Given the description of an element on the screen output the (x, y) to click on. 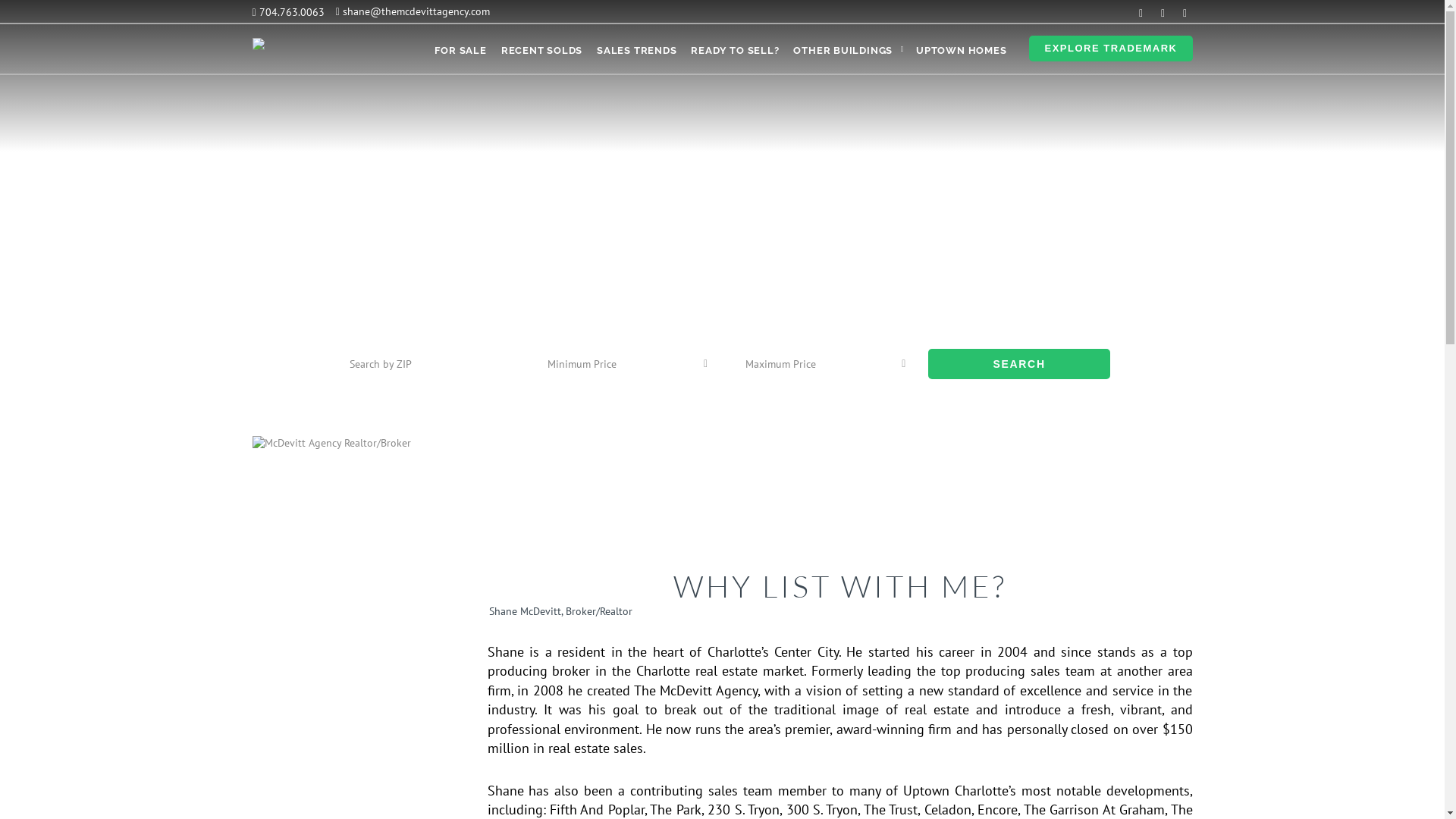
FOR SALE Element type: text (460, 50)

          
            
          
           Element type: hover (1184, 12)

          
            
          
           Element type: hover (1140, 12)
READY TO SELL? Element type: text (734, 50)
SALES TRENDS Element type: text (636, 50)
shane@themcdevittagency.com Element type: text (412, 10)
RECENT SOLDS Element type: text (541, 50)
704.763.0063 Element type: text (287, 10)

          
            
          
           Element type: hover (1162, 12)
UPTOWN HOMES Element type: text (961, 50)
OTHER BUILDINGS Element type: text (842, 50)
Search Element type: text (1019, 363)
EXPLORE TRADEMARK Element type: text (1110, 47)
